Given the description of an element on the screen output the (x, y) to click on. 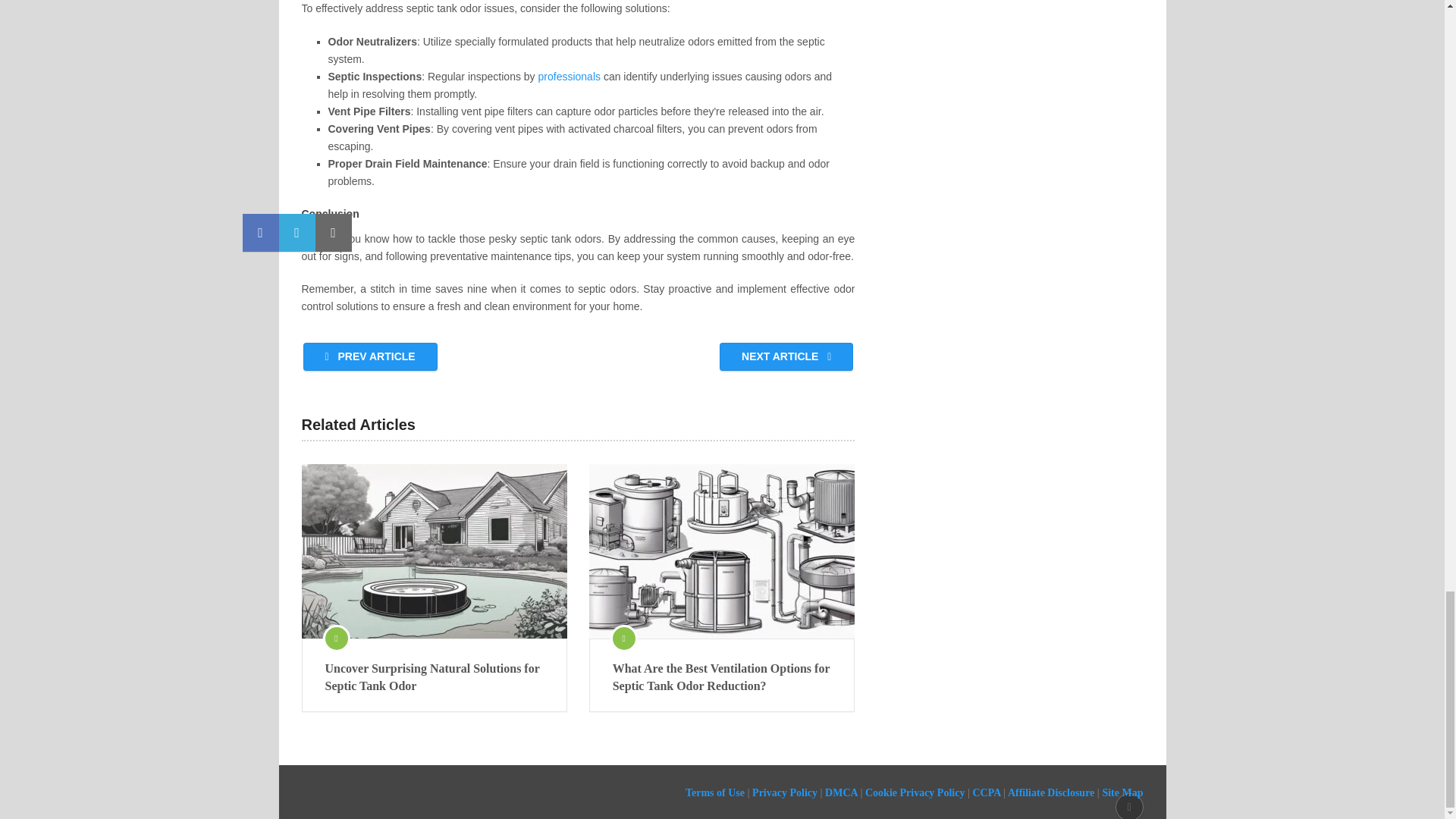
Uncover Surprising Natural Solutions for Septic Tank Odor (433, 677)
professionals (569, 76)
Get FREE Septic Service Quote! (569, 76)
Uncover Surprising Natural Solutions for Septic Tank Odor (433, 677)
Uncover Surprising Natural Solutions for Septic Tank Odor (434, 551)
PREV ARTICLE (370, 357)
NEXT ARTICLE (786, 357)
